Given the description of an element on the screen output the (x, y) to click on. 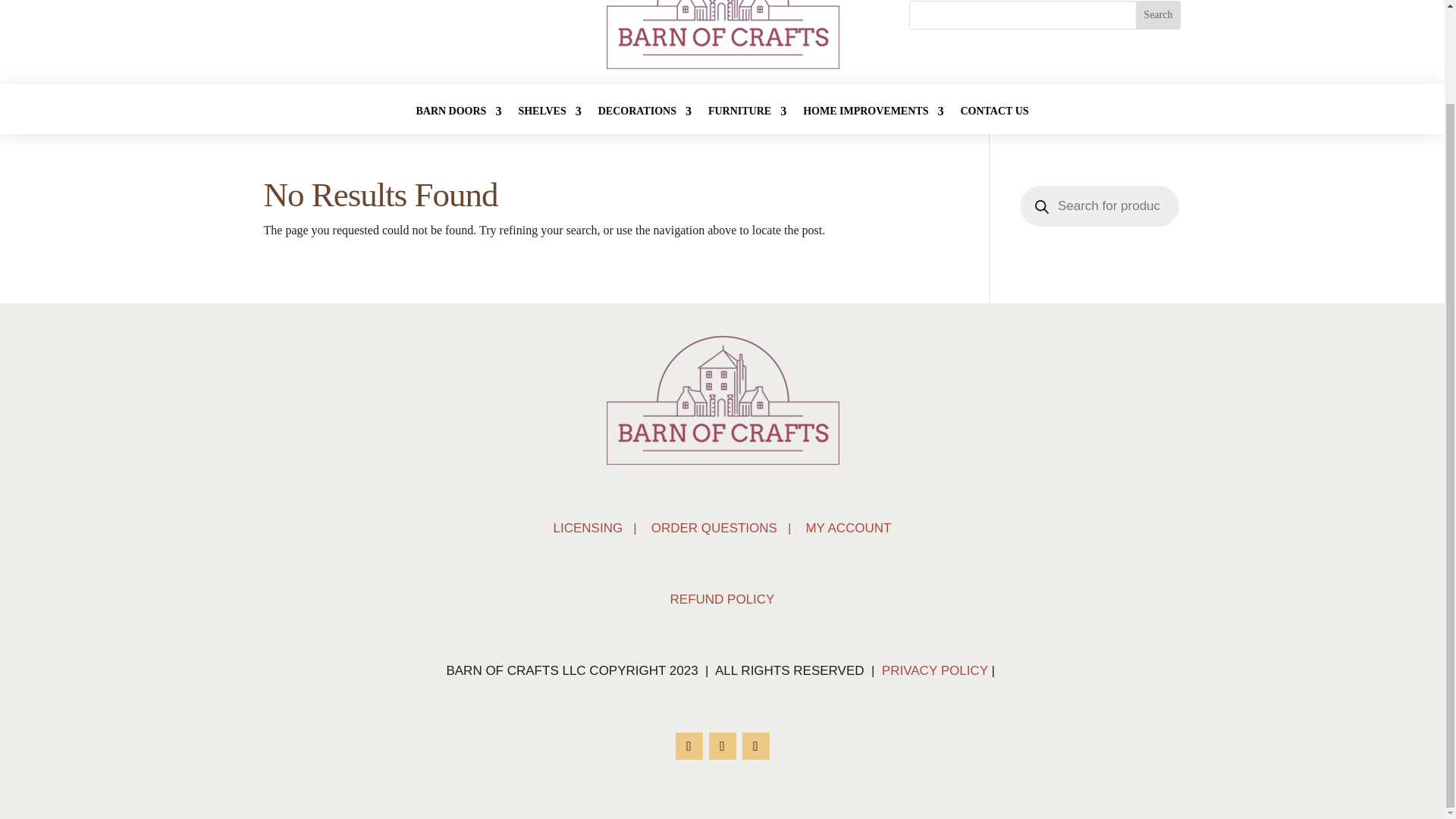
SHELVES (549, 114)
Search (1157, 14)
Follow on Instagram (721, 746)
DECORATIONS (644, 114)
Search (1157, 14)
BARN DOORS (457, 114)
logo (721, 35)
Search (1157, 14)
Follow on Youtube (754, 746)
HOME IMPROVEMENTS (873, 114)
